Given the description of an element on the screen output the (x, y) to click on. 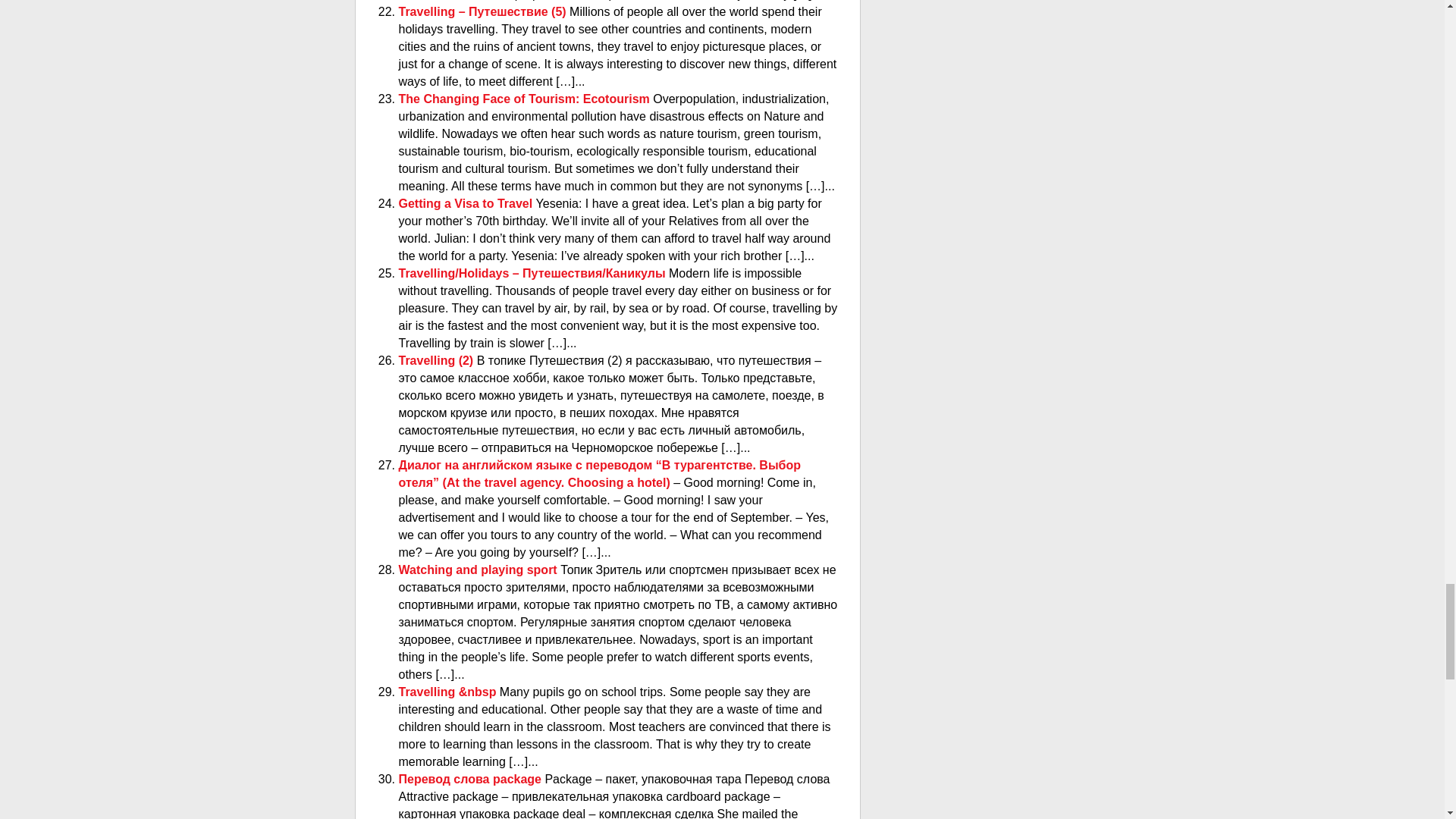
Watching and playing sport (479, 569)
Getting a Visa to Travel (466, 203)
The Changing Face of Tourism: Ecotourism (525, 98)
